Given the description of an element on the screen output the (x, y) to click on. 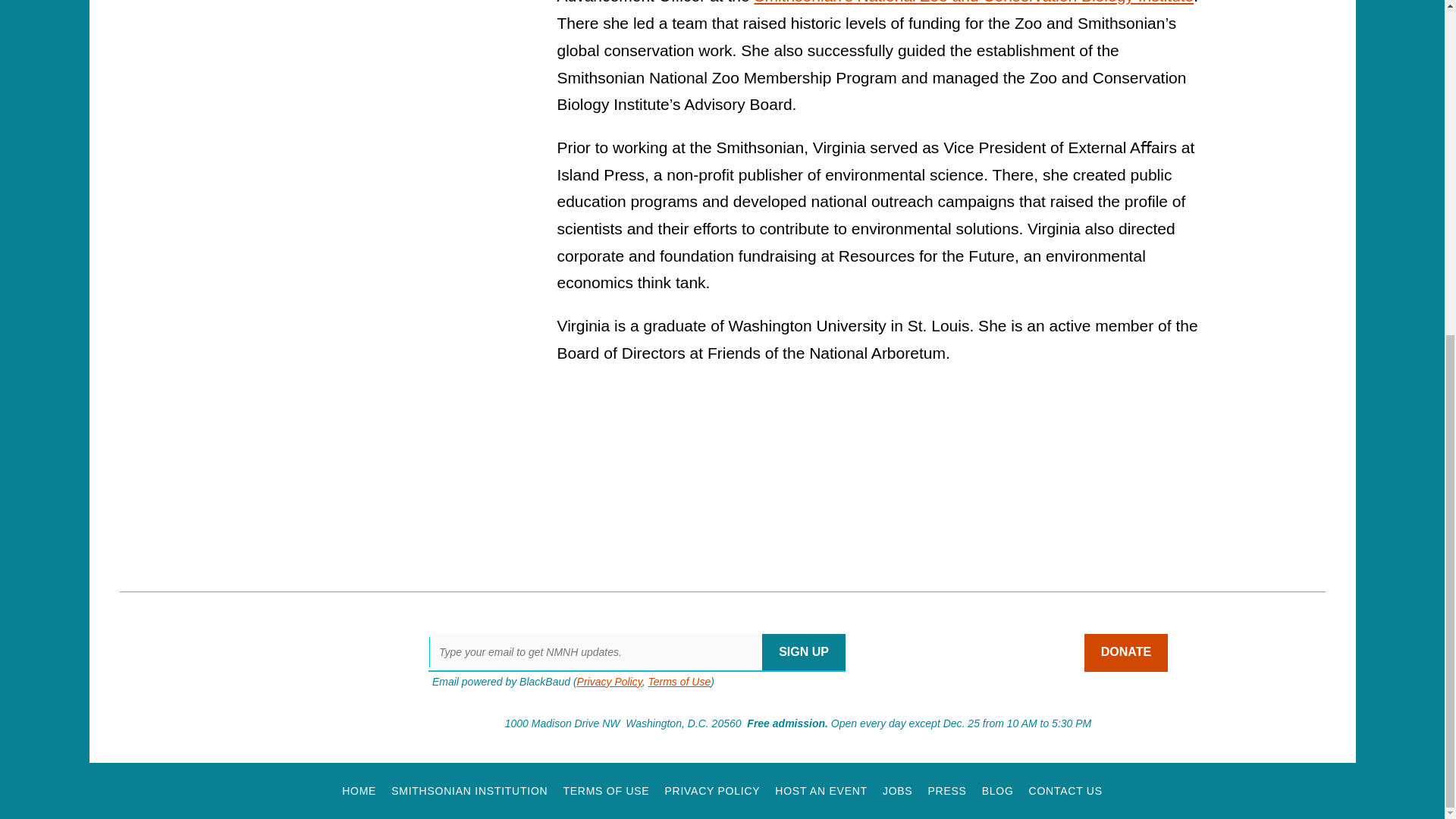
Smithsonian (179, 724)
Terms of Use (678, 681)
JOBS (897, 790)
Privacy Policy (609, 681)
BLOG (996, 790)
HOST AN EVENT (821, 790)
PRIVACY POLICY (711, 790)
Twitter (994, 652)
HOME (358, 790)
Smithsonian (179, 724)
